Given the description of an element on the screen output the (x, y) to click on. 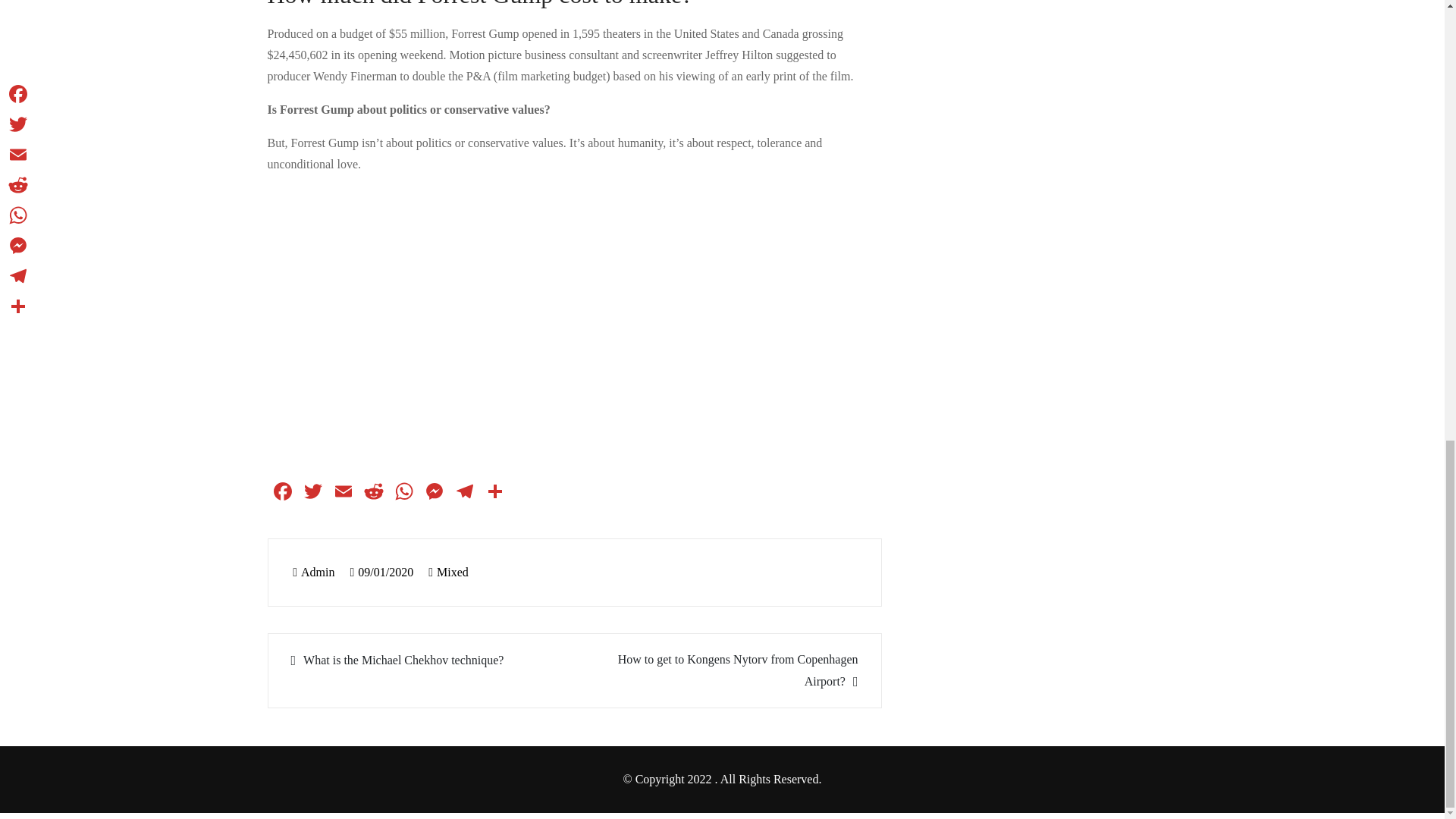
Telegram (463, 492)
What is the Michael Chekhov technique? (423, 659)
Twitter (312, 492)
WhatsApp (403, 492)
Telegram (463, 492)
Mixed (452, 571)
WhatsApp (403, 492)
Messenger (433, 492)
Email (342, 492)
Reddit (373, 492)
